Given the description of an element on the screen output the (x, y) to click on. 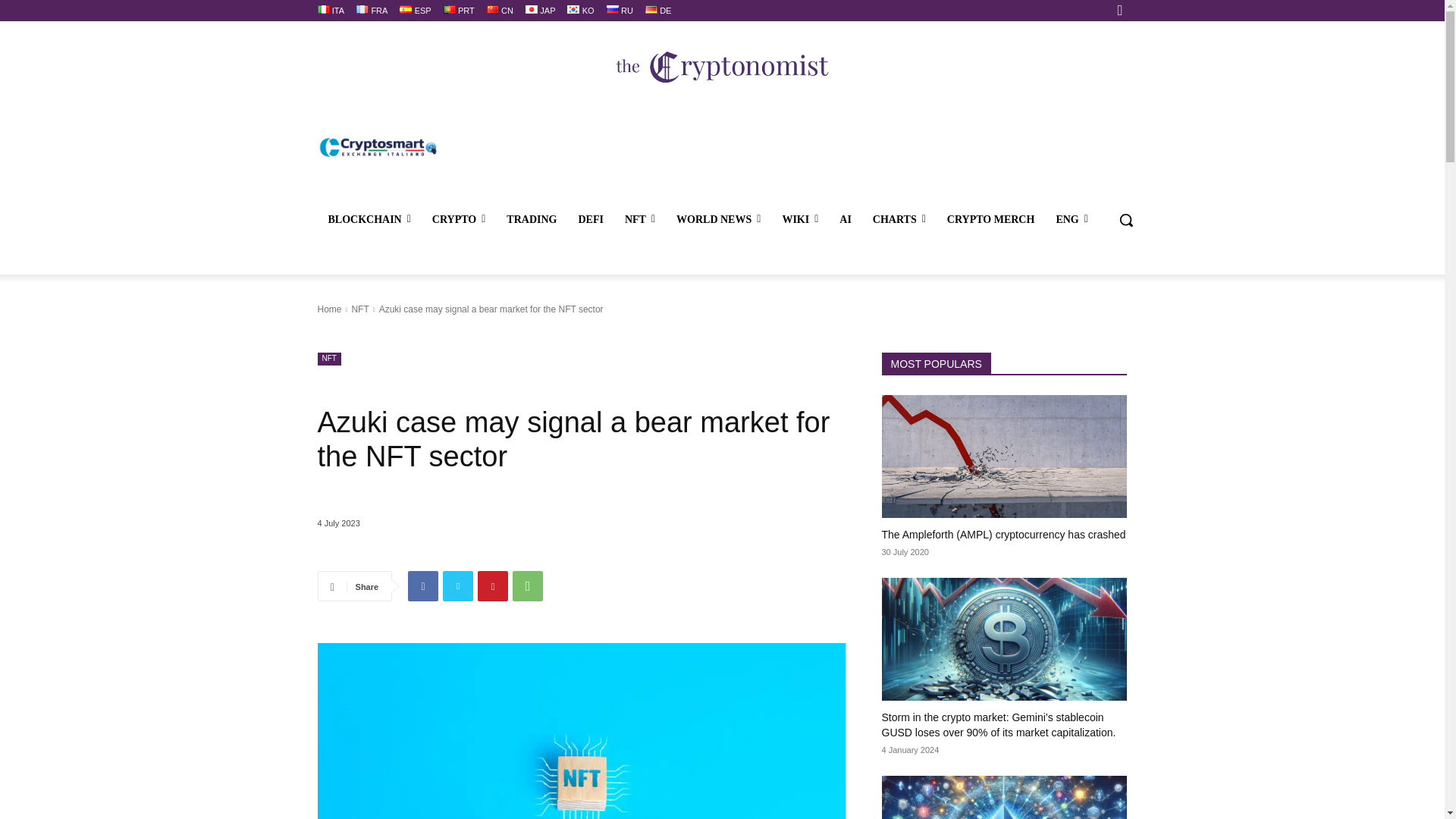
Pinterest (492, 585)
Facebook (422, 585)
View all posts in NFT (359, 308)
WhatsApp (527, 585)
Twitter (457, 585)
azuki nft (580, 730)
